Given the description of an element on the screen output the (x, y) to click on. 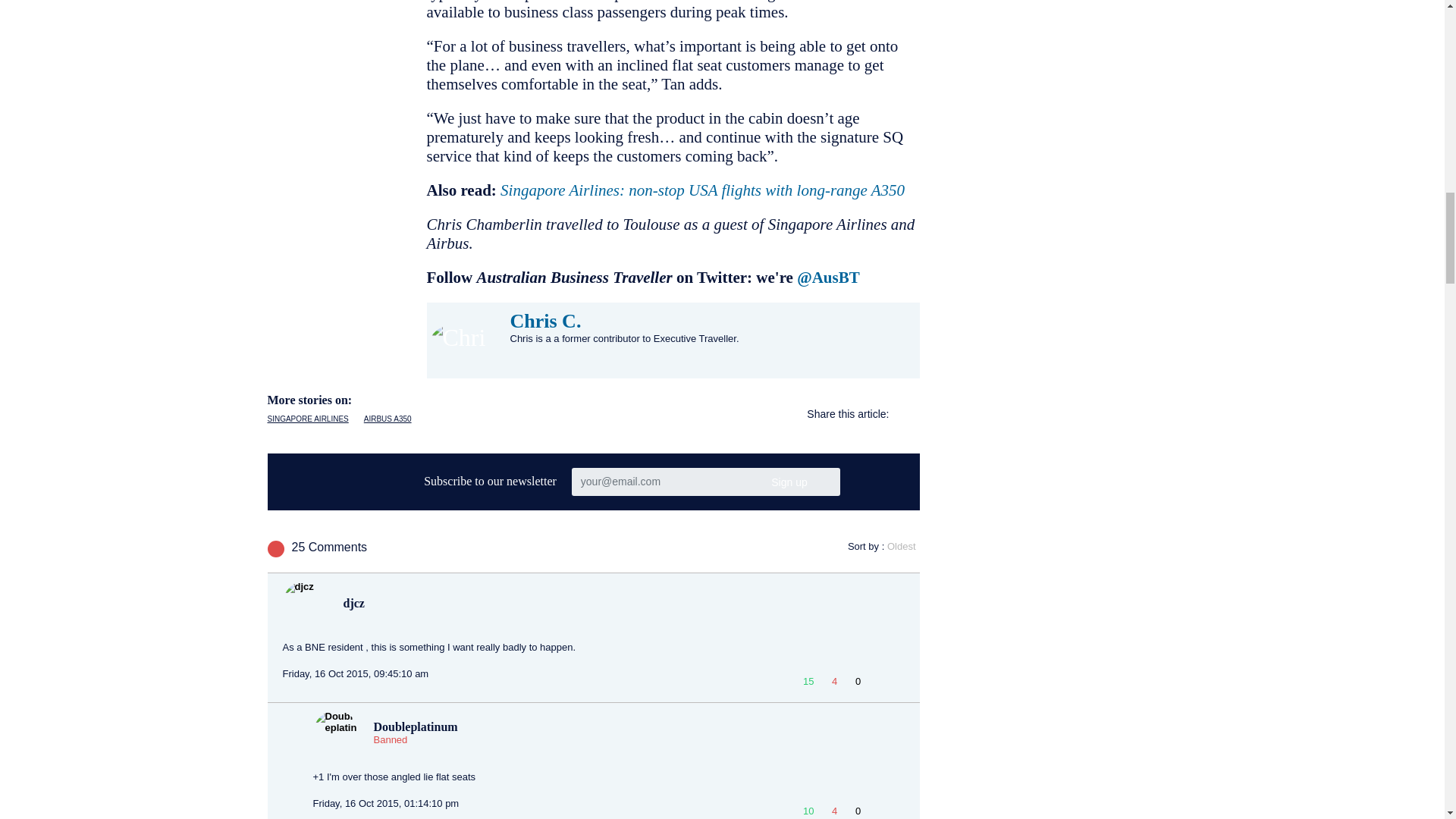
Like (807, 680)
Report this post (896, 683)
Reply this post (878, 683)
Dislike (834, 808)
Like (807, 808)
Thank Doubleplatinum for this helpful post (857, 808)
